Given the description of an element on the screen output the (x, y) to click on. 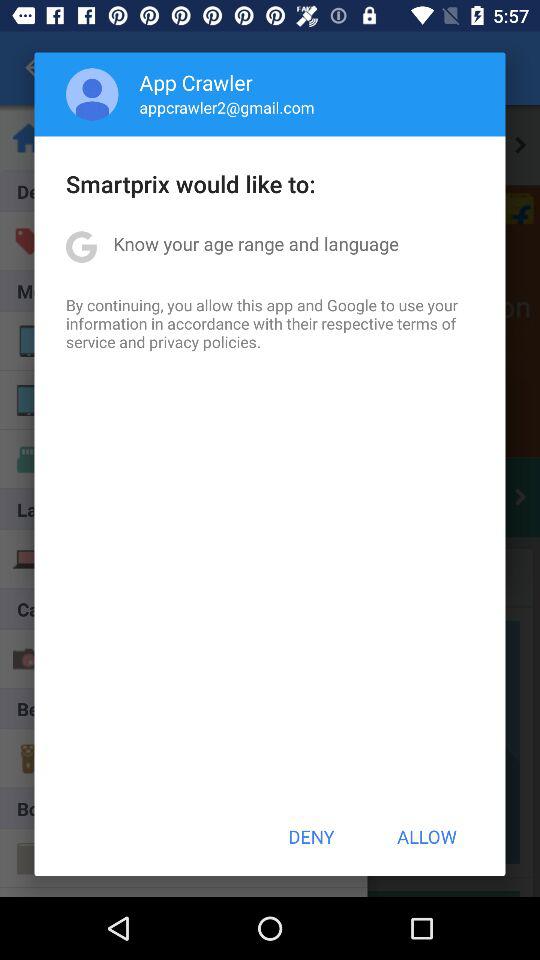
select icon below smartprix would like app (255, 243)
